Given the description of an element on the screen output the (x, y) to click on. 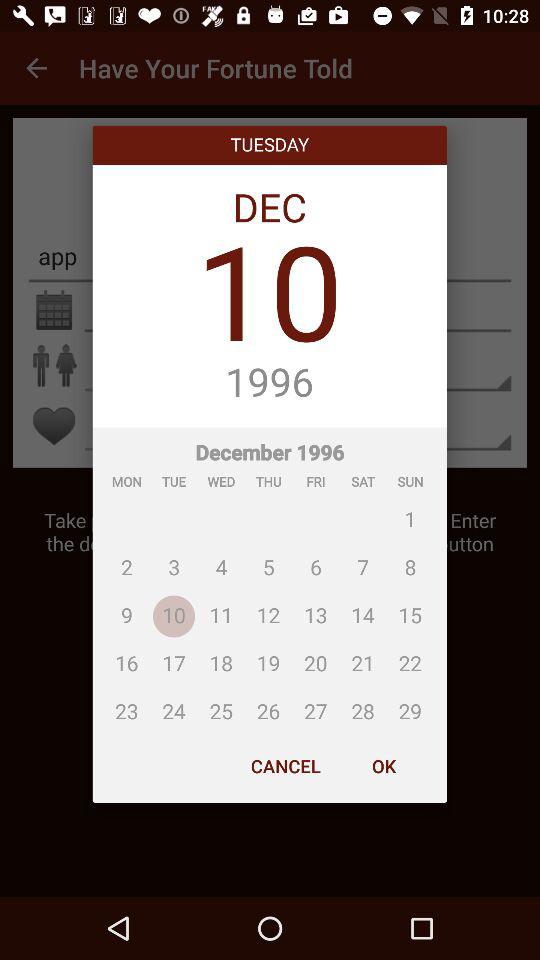
turn on the item next to the cancel (383, 765)
